Given the description of an element on the screen output the (x, y) to click on. 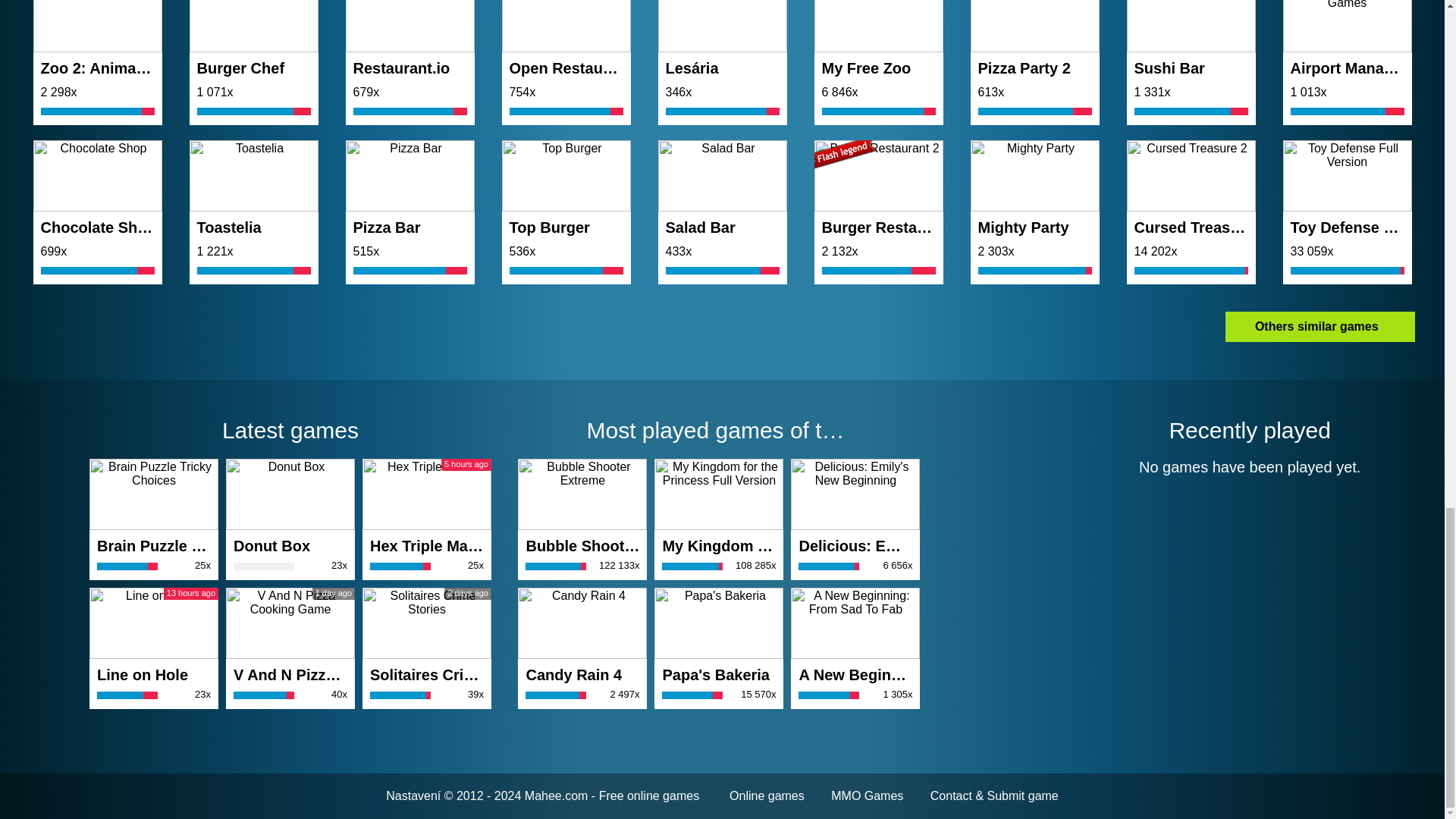
Restaurant.io (410, 38)
Zoo 2: Animal Park (97, 38)
Burger Chef (253, 38)
